Given the description of an element on the screen output the (x, y) to click on. 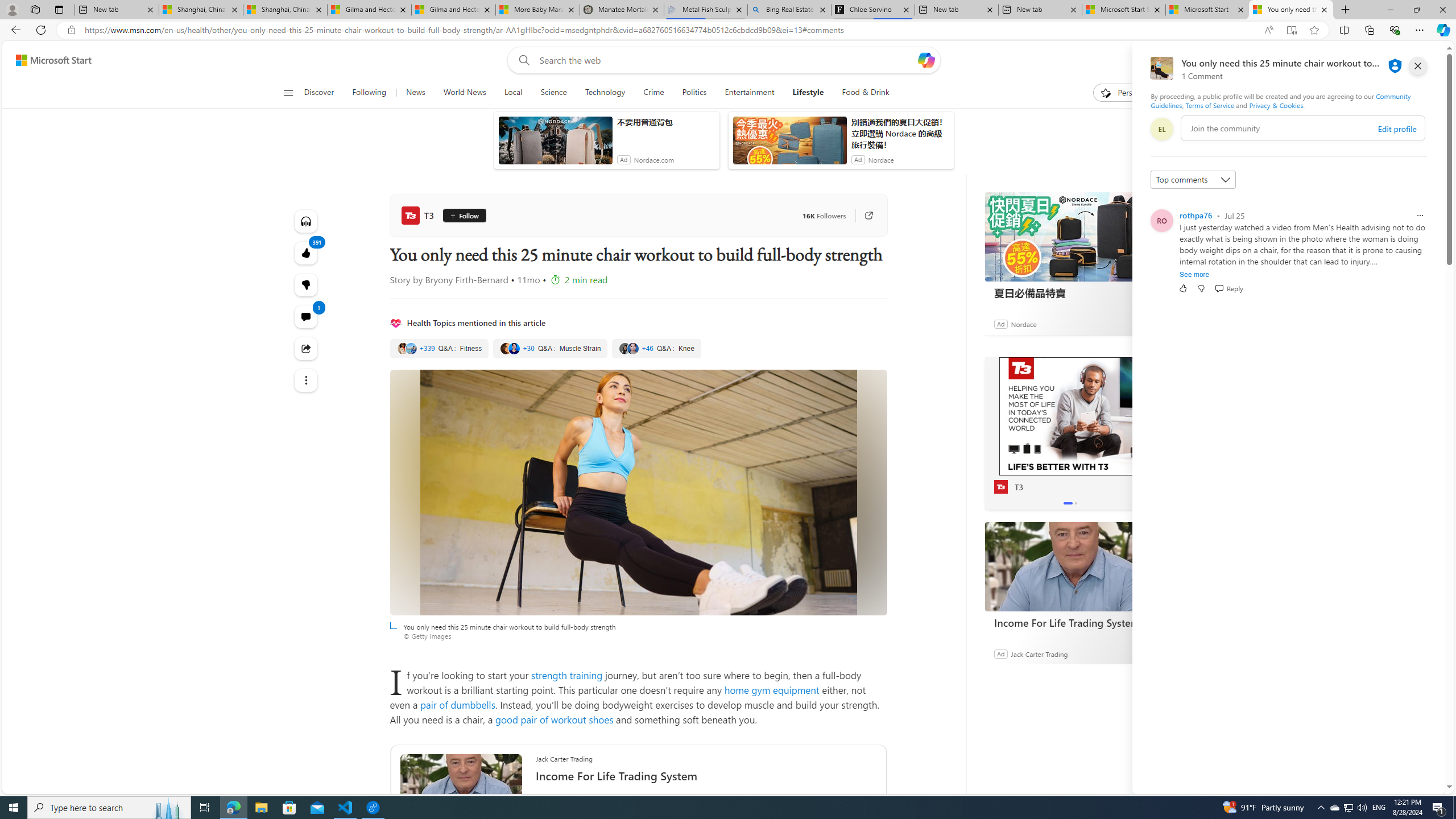
Terms of Service (1209, 104)
good pair of workout shoes (553, 719)
Microsoft rewards (1374, 60)
391 Like (305, 252)
Muscle Strain (550, 348)
Local (512, 92)
Listen to this article (305, 221)
To get missing image descriptions, open the context menu. (1105, 92)
Science (553, 92)
